Given the description of an element on the screen output the (x, y) to click on. 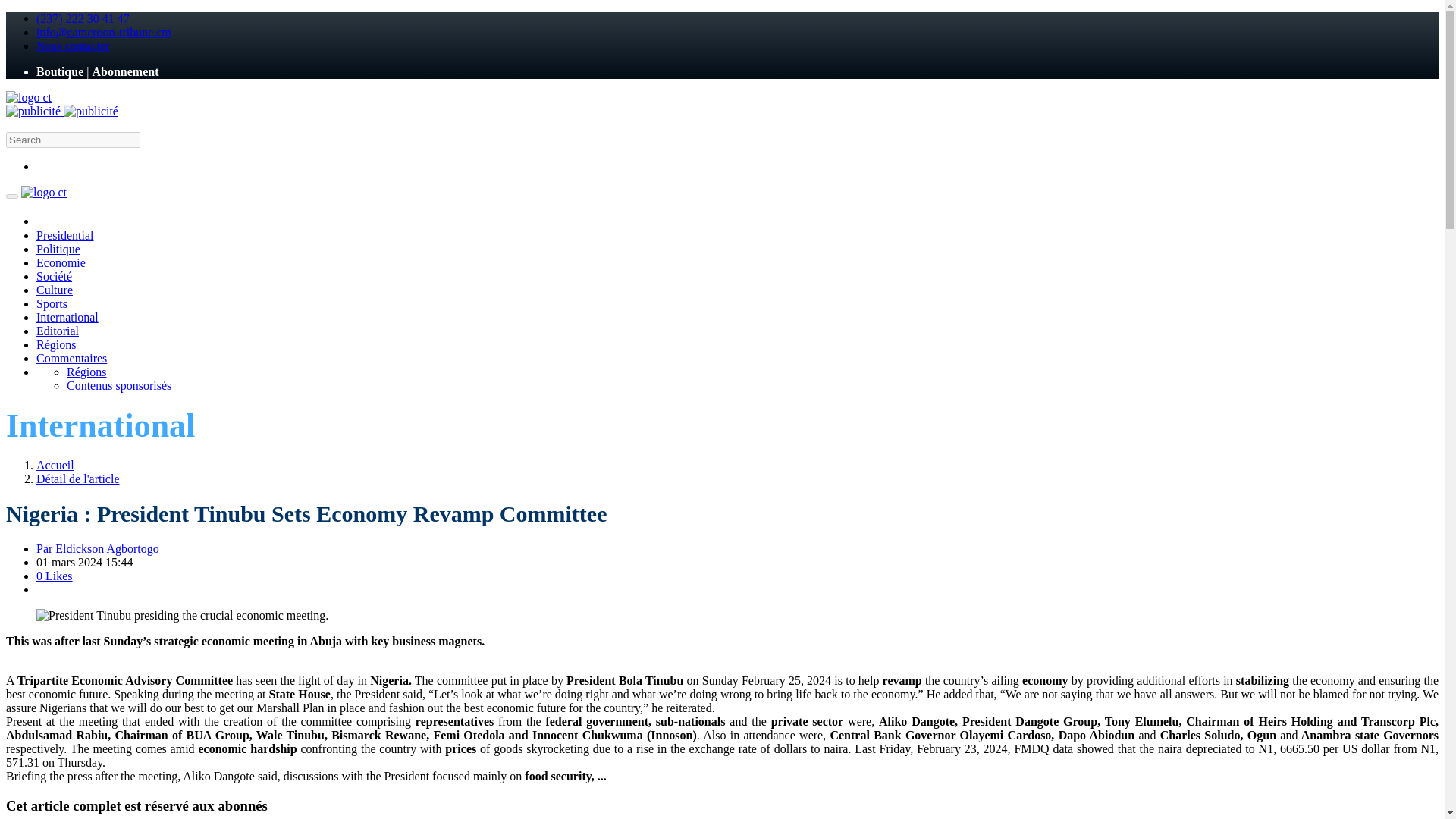
Presidential (65, 235)
Culture (54, 289)
Politique (58, 248)
Par Eldickson Agbortogo (97, 548)
Editorial (57, 330)
logo ct (43, 192)
Accueil (55, 464)
Commentaires (71, 358)
0 Likes (54, 575)
Economie (60, 262)
Boutique (59, 71)
International (67, 317)
Abonnement (124, 71)
logo ct (27, 97)
Sports (51, 303)
